Given the description of an element on the screen output the (x, y) to click on. 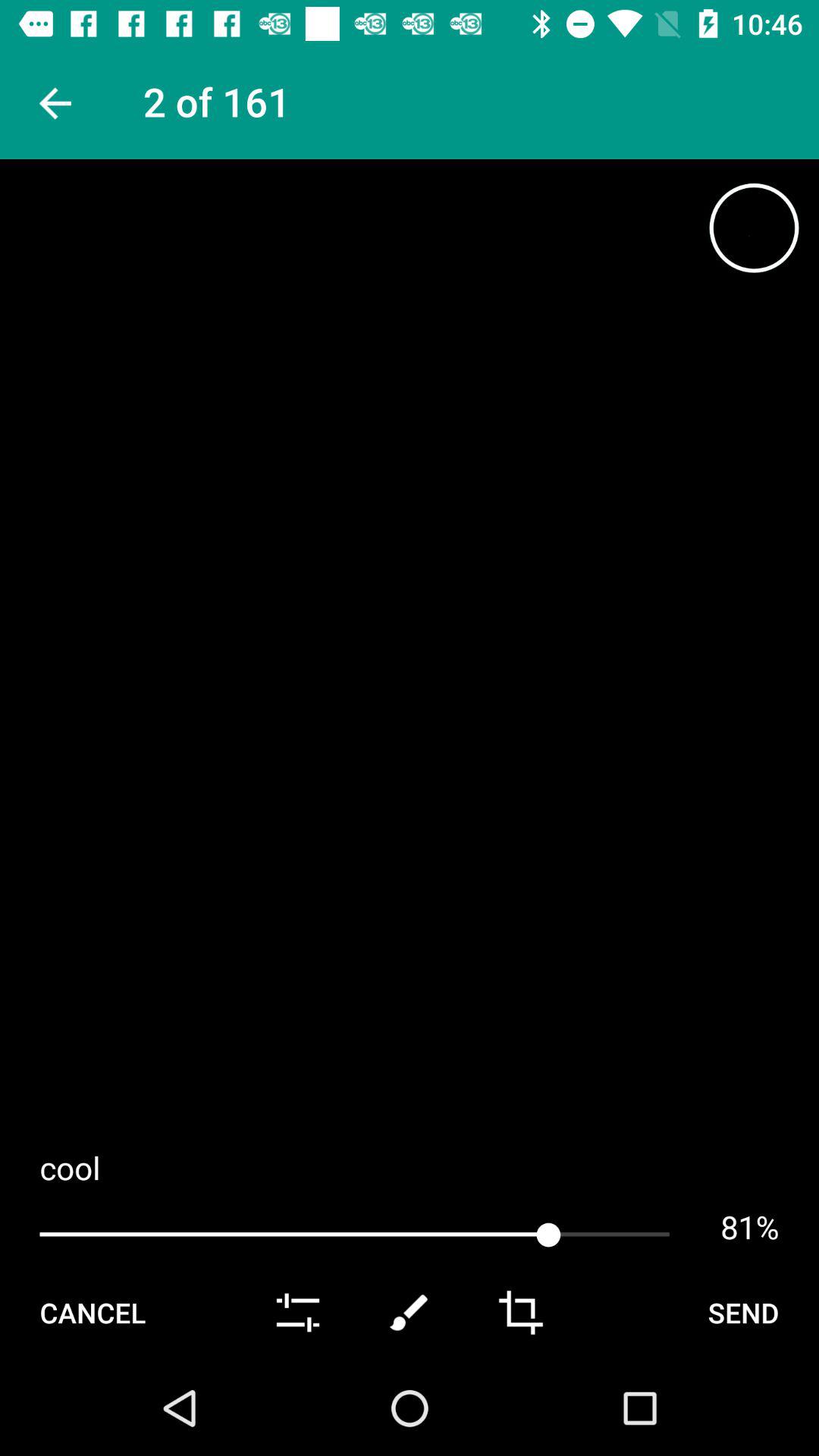
press icon at the bottom left corner (92, 1312)
